Given the description of an element on the screen output the (x, y) to click on. 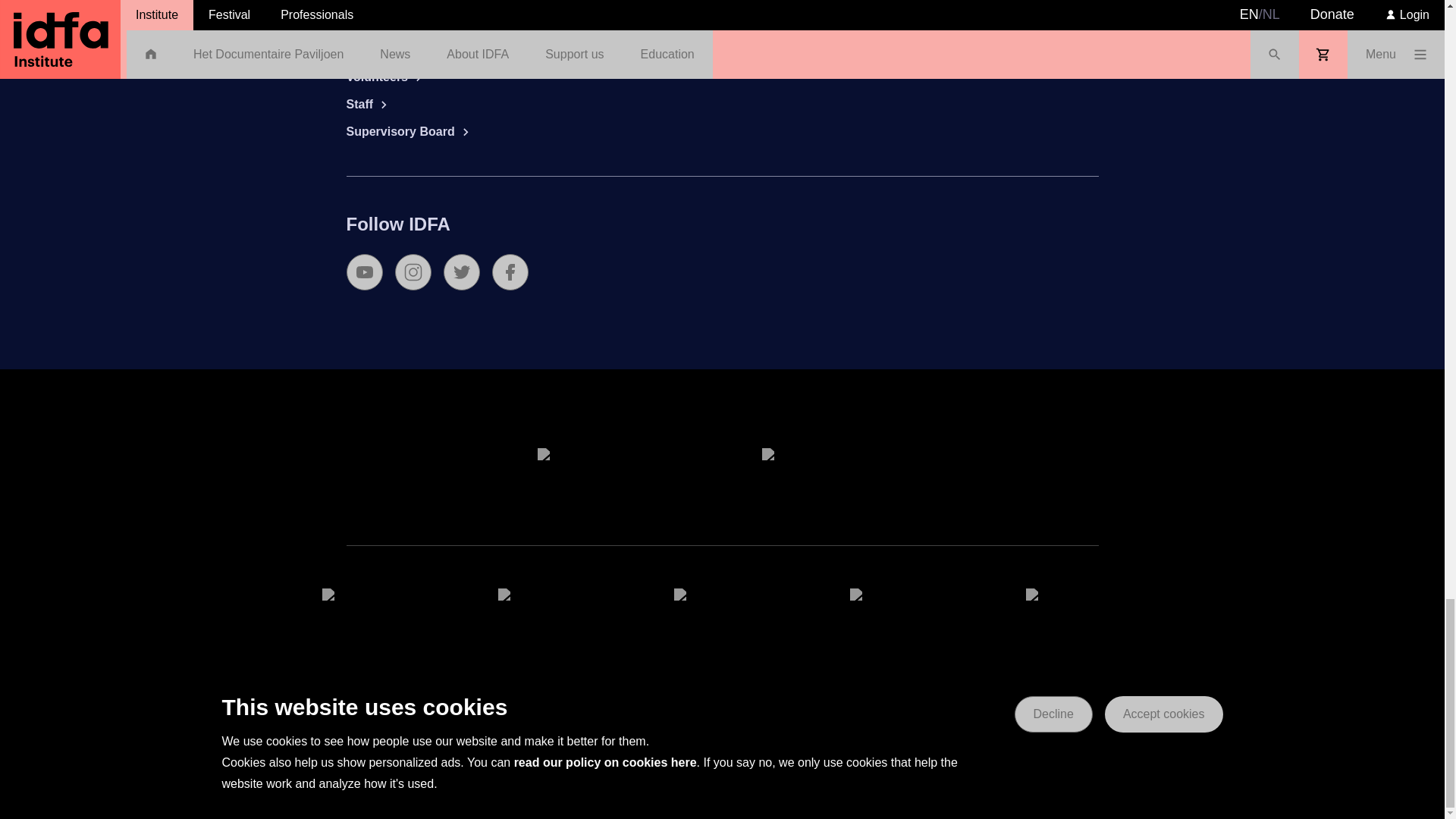
npo (545, 712)
OXFAM (897, 712)
Jobs at IDFA (446, 49)
Vriendenloterij (609, 474)
Fonds21 (545, 615)
Annual reports (446, 22)
IDFA vrienden (721, 712)
VPRO (370, 615)
Volunteers (446, 77)
youtube (363, 271)
facebook (509, 271)
Mission statement (446, 1)
Ammodo (1073, 615)
instagram (412, 271)
twitter (460, 271)
